Given the description of an element on the screen output the (x, y) to click on. 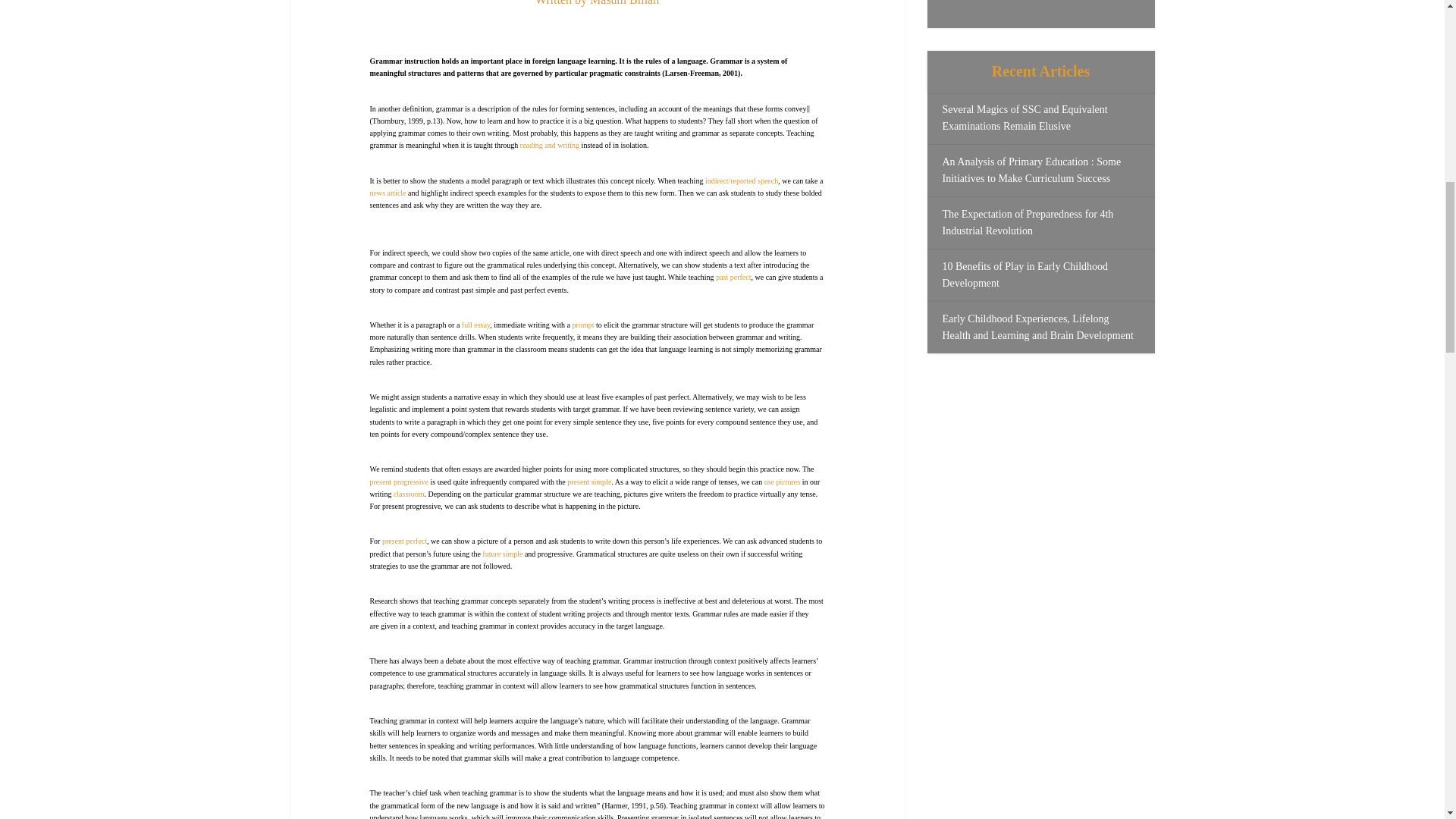
Advertisement (1040, 6)
